Given the description of an element on the screen output the (x, y) to click on. 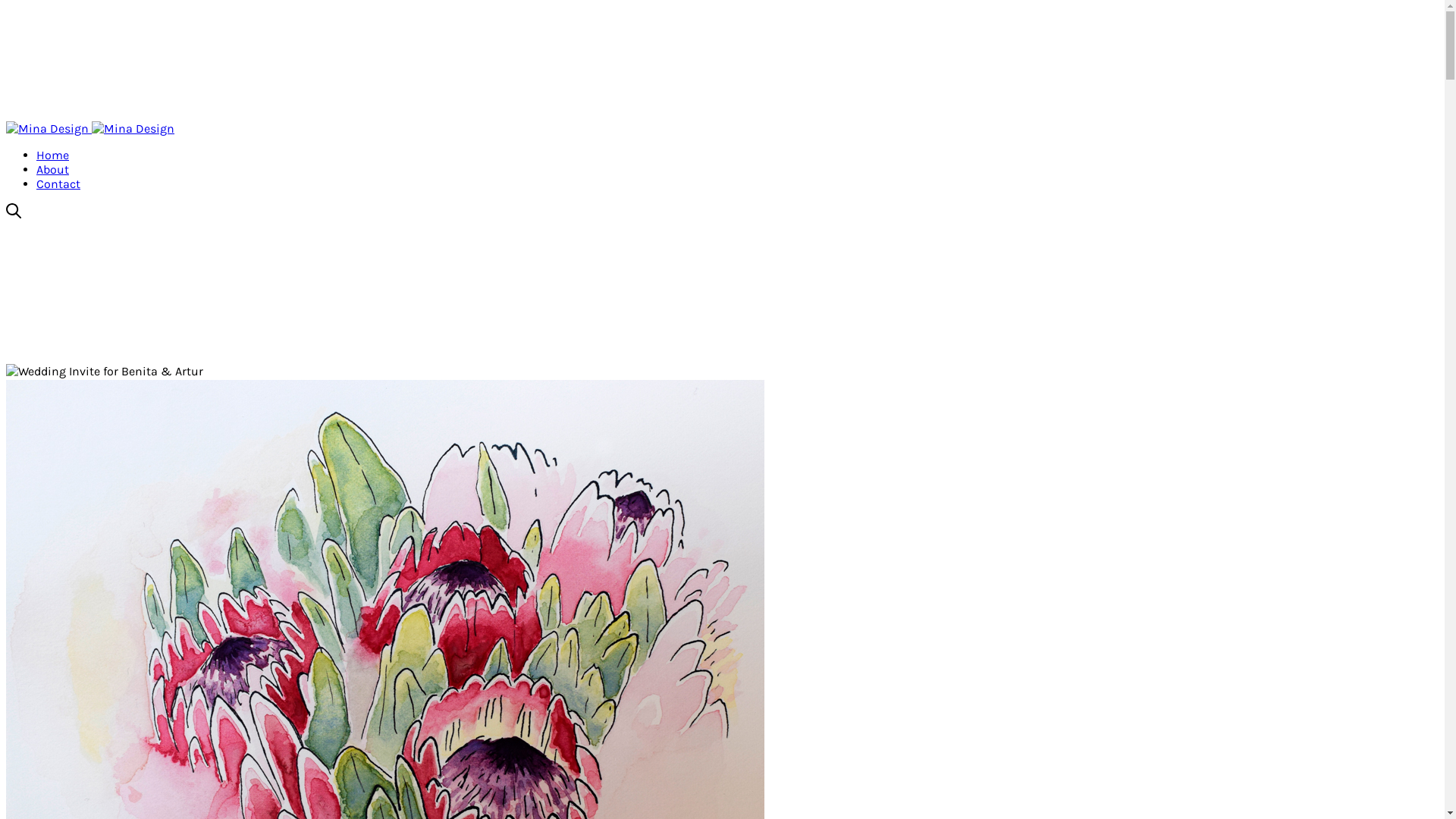
Weddinginvite-BenitaArtur_MinaDesign Element type: hover (104, 371)
About Element type: text (52, 169)
Contact Element type: text (58, 183)
Home Element type: text (52, 154)
